Given the description of an element on the screen output the (x, y) to click on. 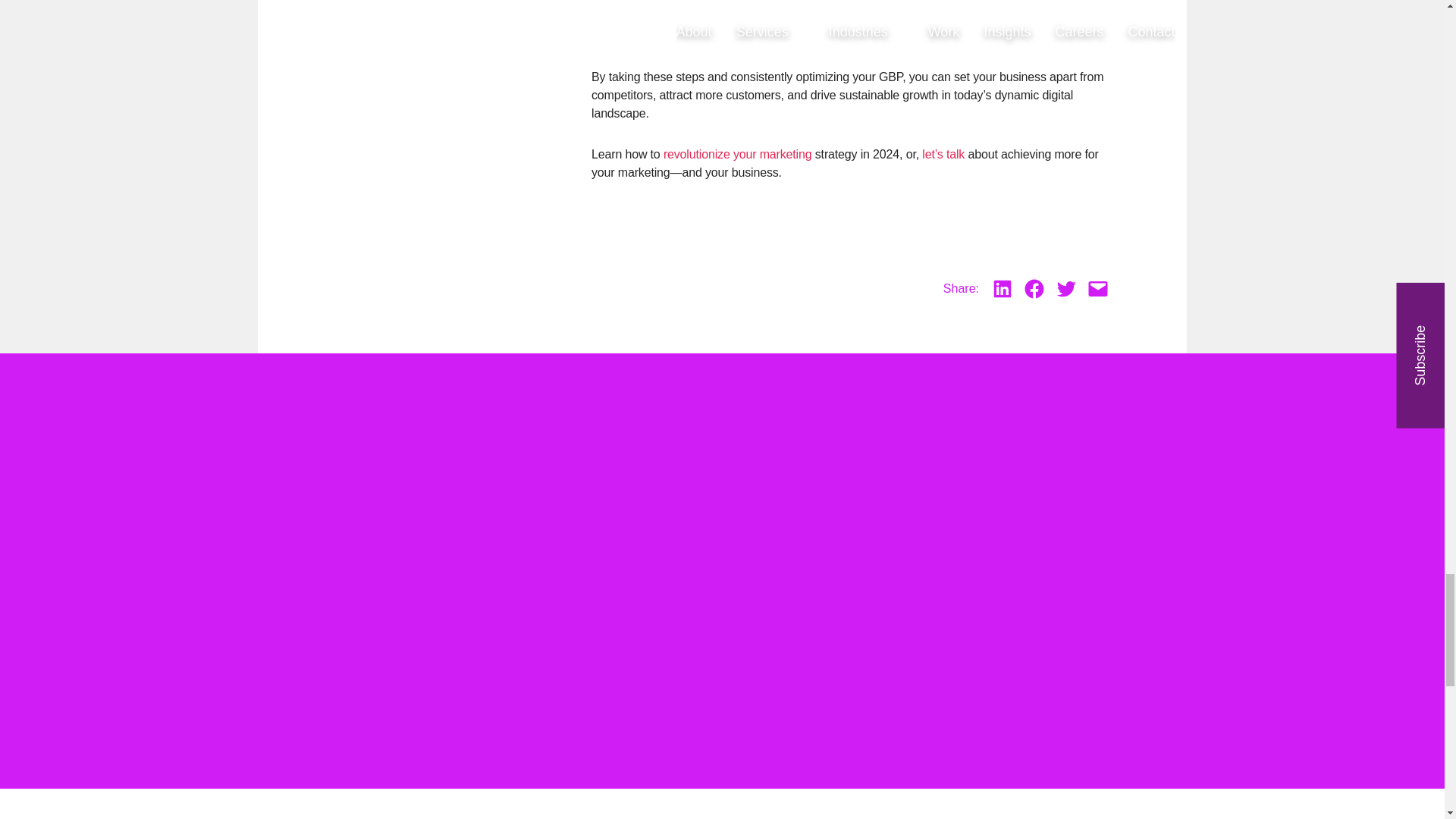
Share via Email (1097, 288)
Facebook (1034, 288)
Twitter (1065, 288)
LinkedIn (1002, 288)
